Given the description of an element on the screen output the (x, y) to click on. 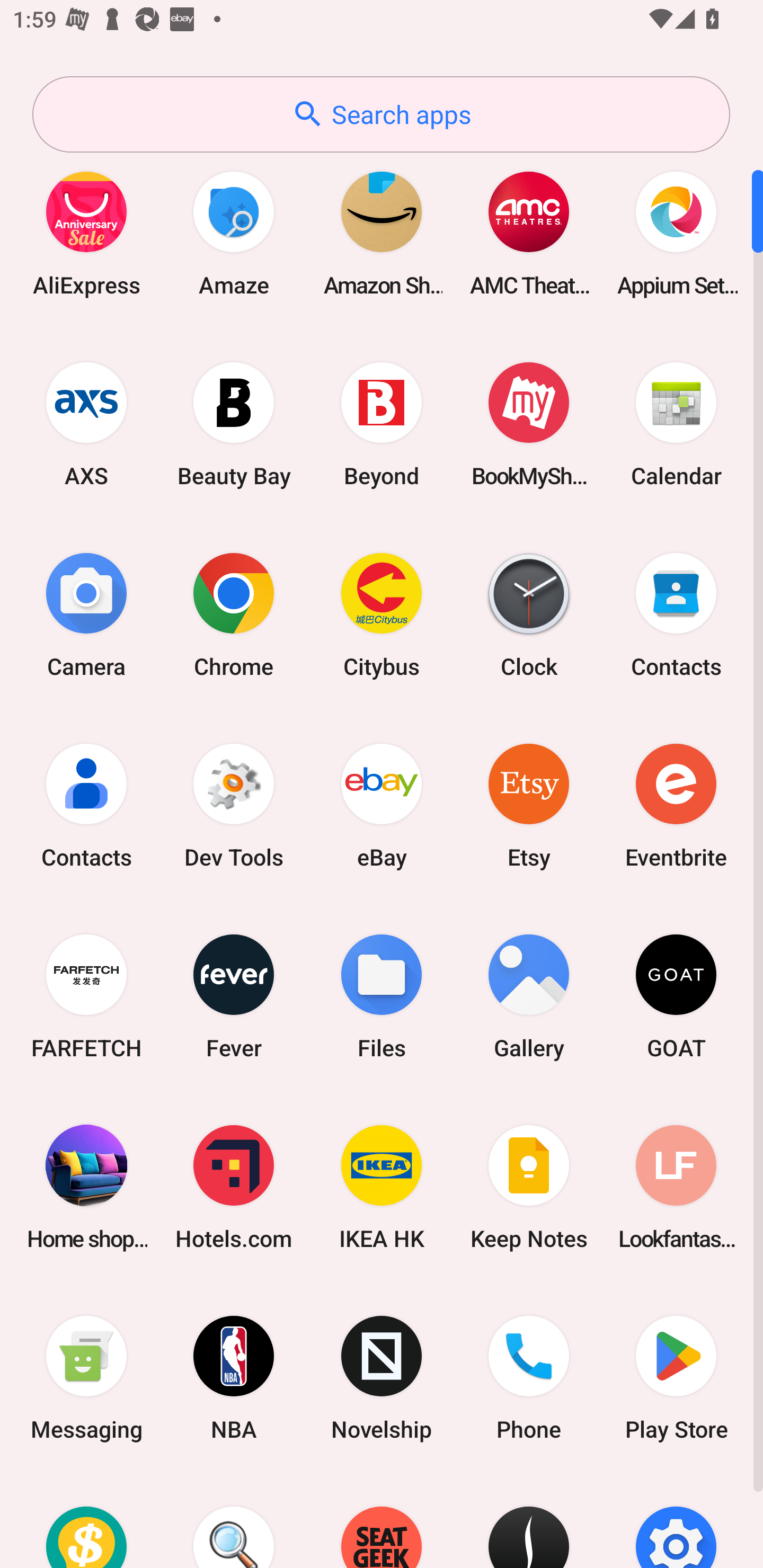
  Search apps (381, 114)
AliExpress (86, 233)
Amaze (233, 233)
Amazon Shopping (381, 233)
AMC Theatres (528, 233)
Appium Settings (676, 233)
AXS (86, 424)
Beauty Bay (233, 424)
Beyond (381, 424)
BookMyShow (528, 424)
Calendar (676, 424)
Camera (86, 614)
Chrome (233, 614)
Citybus (381, 614)
Clock (528, 614)
Contacts (676, 614)
Contacts (86, 805)
Dev Tools (233, 805)
eBay (381, 805)
Etsy (528, 805)
Eventbrite (676, 805)
FARFETCH (86, 996)
Fever (233, 996)
Files (381, 996)
Gallery (528, 996)
GOAT (676, 996)
Home shopping (86, 1186)
Hotels.com (233, 1186)
IKEA HK (381, 1186)
Keep Notes (528, 1186)
Lookfantastic (676, 1186)
Messaging (86, 1377)
NBA (233, 1377)
Novelship (381, 1377)
Phone (528, 1377)
Play Store (676, 1377)
